Given the description of an element on the screen output the (x, y) to click on. 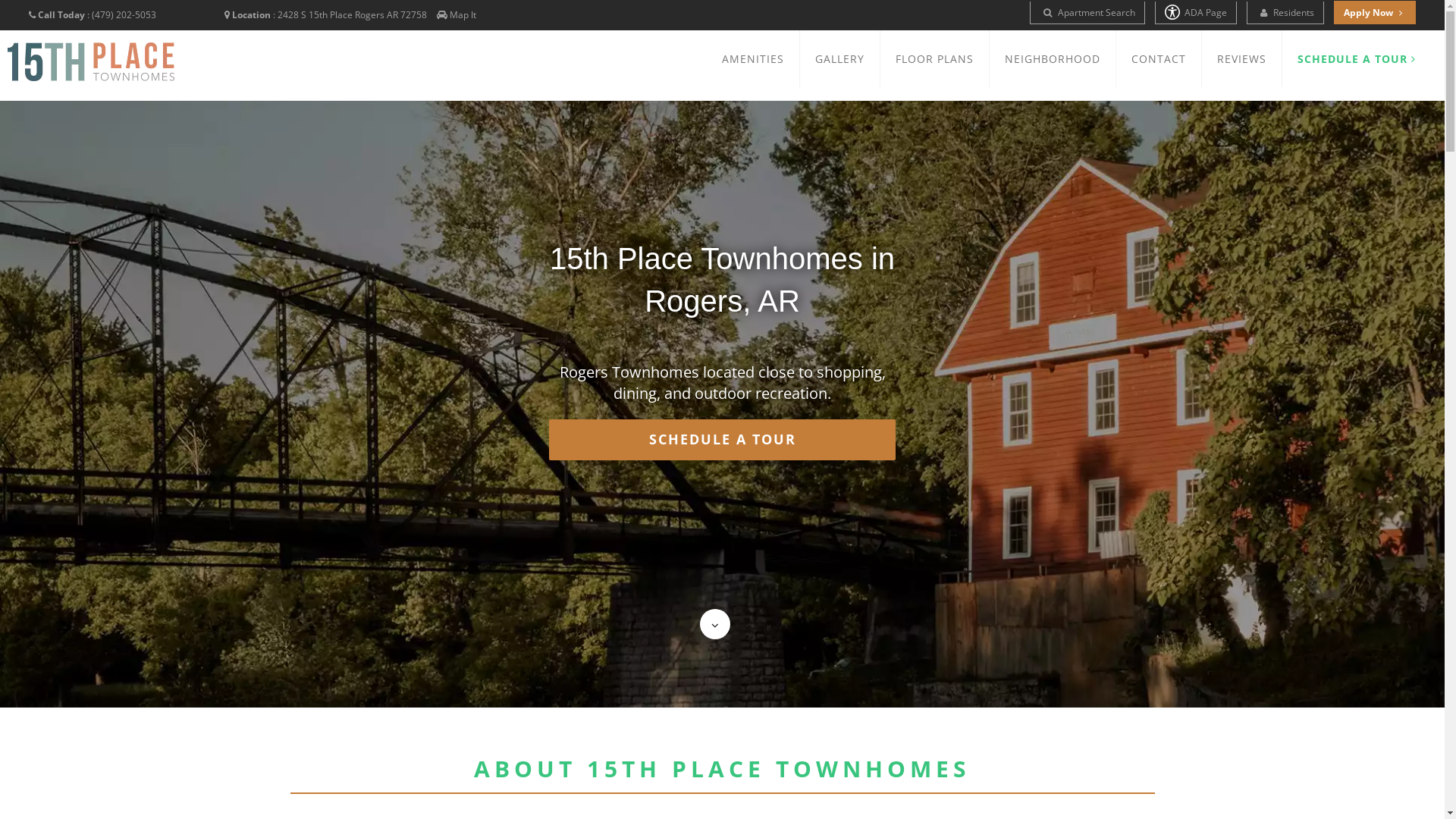
NEIGHBORHOOD Element type: text (1052, 58)
Residents Element type: text (1285, 12)
Map It Element type: text (462, 14)
SCHEDULE A TOUR Element type: text (722, 439)
REVIEWS Element type: text (1241, 58)
ADA Page Element type: text (1195, 12)
FLOOR PLANS Element type: text (934, 58)
Apply Now Element type: text (1374, 12)
CONTACT Element type: text (1158, 58)
15th Place Townhomes in Rogers, AR Element type: hover (90, 61)
AMENITIES Element type: text (752, 58)
SCHEDULE A TOUR Element type: text (1356, 58)
Apartment Search Element type: text (1087, 12)
2428 S 15th Place Rogers AR 72758 Element type: text (351, 14)
GALLERY Element type: text (839, 58)
